Given the description of an element on the screen output the (x, y) to click on. 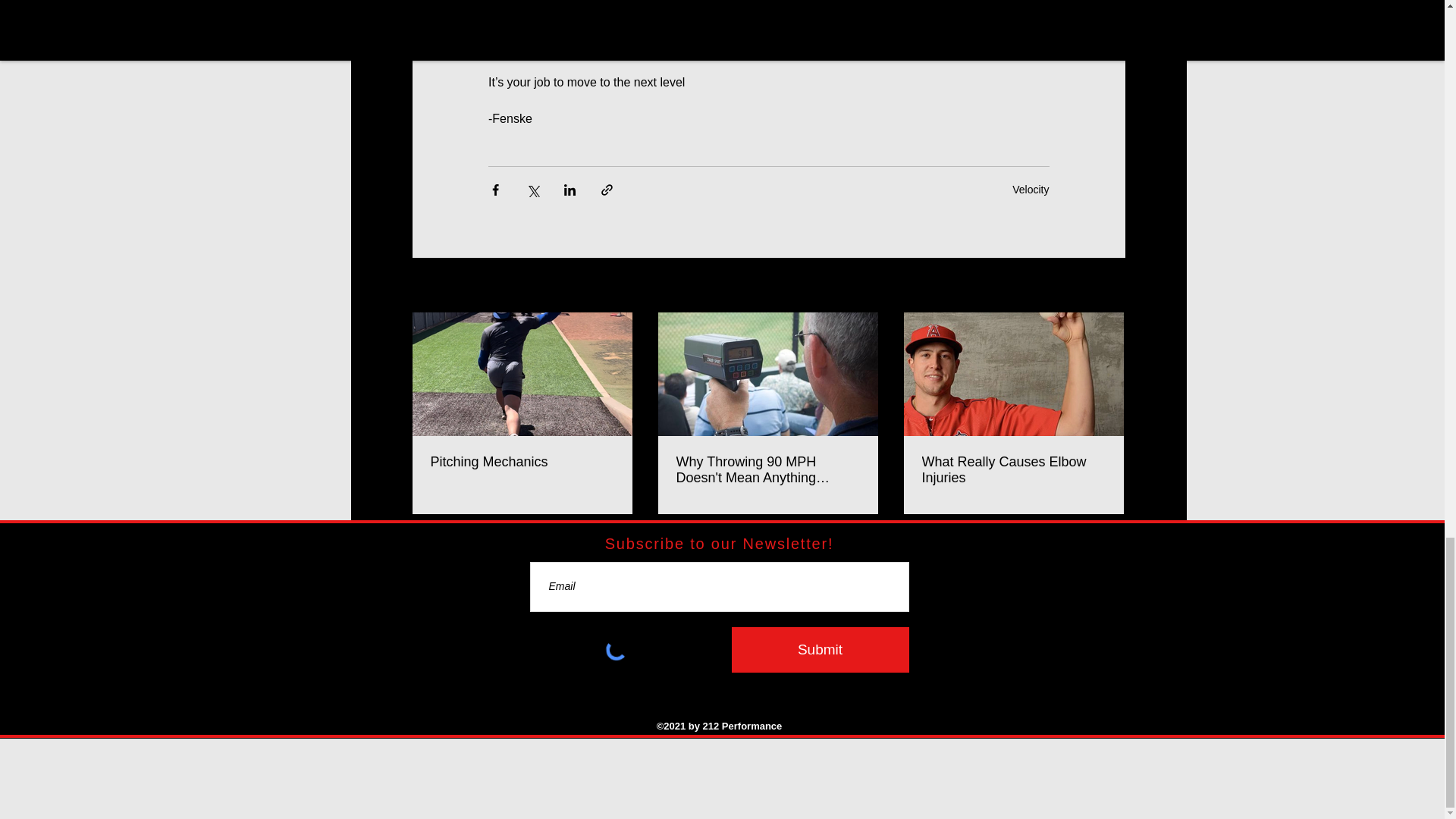
Velocity (1029, 188)
Pitching Mechanics (522, 462)
What Really Causes Elbow Injuries (1013, 470)
Why Throwing 90 MPH Doesn't Mean Anything Anymore (768, 470)
See All (1108, 286)
Submit (819, 649)
